Given the description of an element on the screen output the (x, y) to click on. 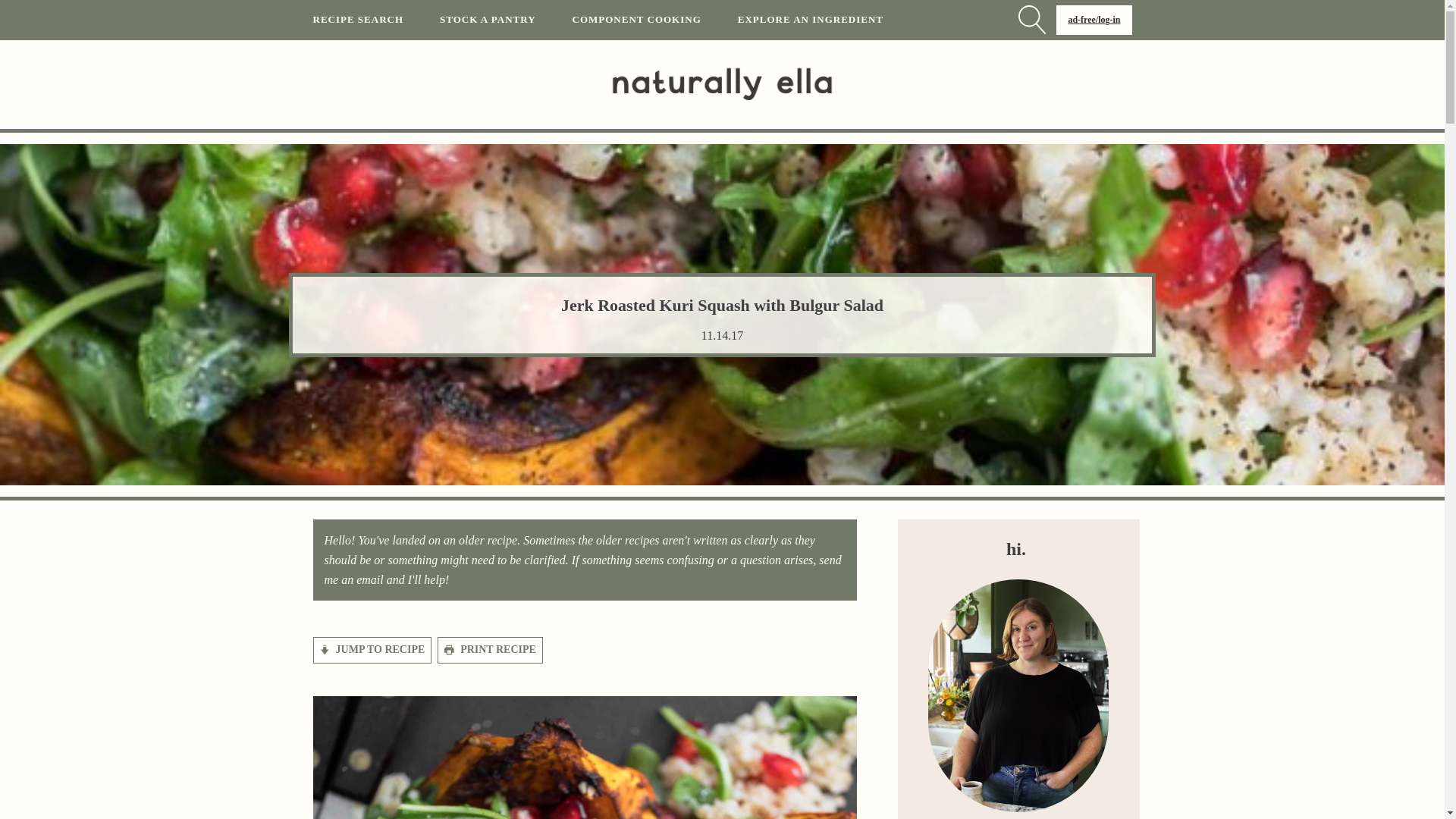
COMPONENT COOKING (655, 20)
JUMP TO RECIPE (371, 649)
PRINT RECIPE (490, 649)
RECIPE SEARCH (376, 20)
STOCK A PANTRY (505, 20)
EXPLORE AN INGREDIENT (829, 20)
Search (25, 9)
